Given the description of an element on the screen output the (x, y) to click on. 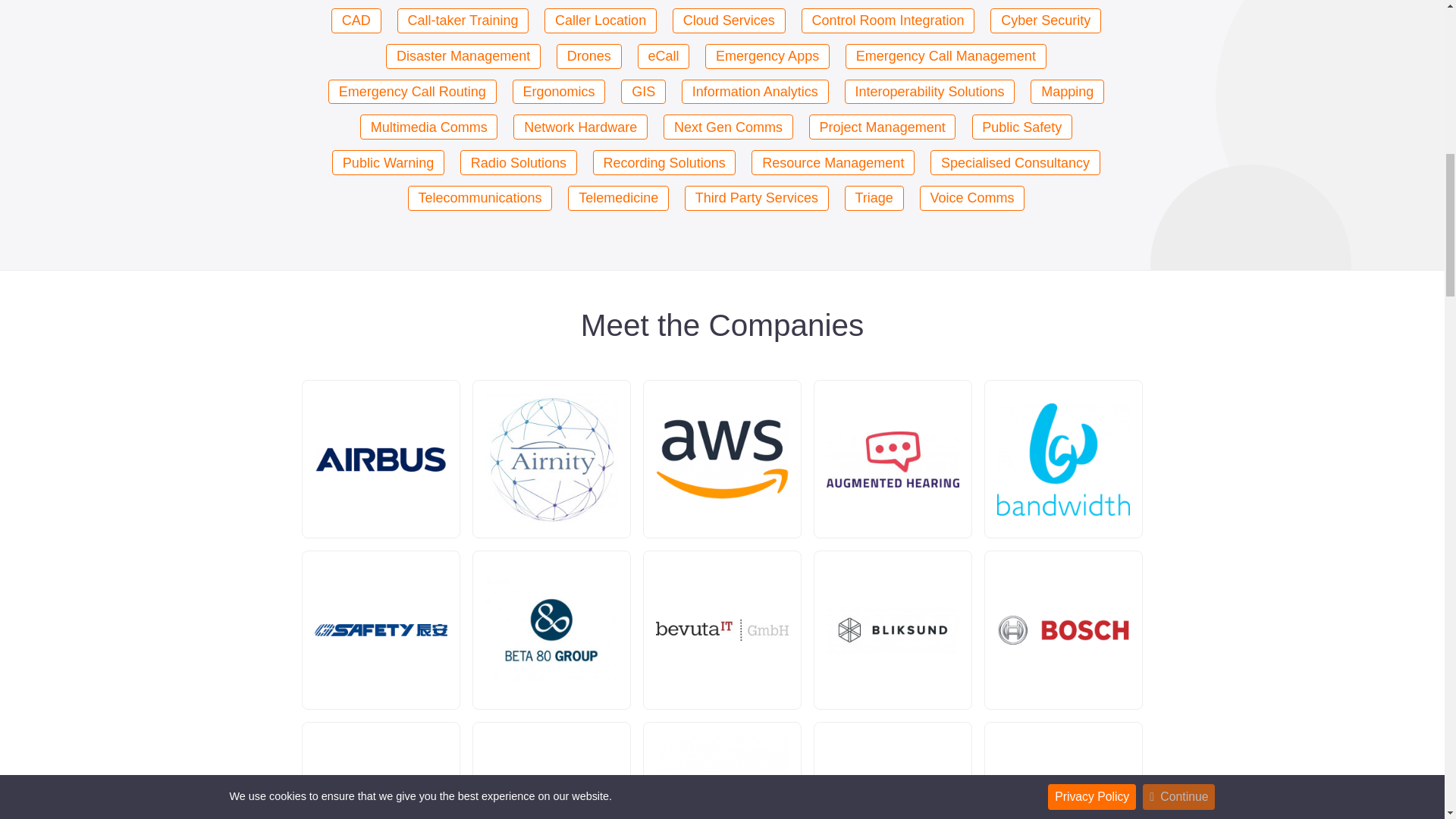
view all companies related to CAD (356, 20)
view all companies related to Cloud Services (729, 20)
view all companies related to eCall (663, 56)
view all companies related to Emergency Call Management (945, 56)
view all companies related to Control Room Integration (888, 20)
view all companies related to Call-taker Training (463, 20)
view all companies related to Emergency Call Routing (412, 91)
view all companies related to Cyber Security (1045, 20)
view all companies related to Disaster Management (462, 56)
view all companies related to Drones (588, 56)
